Given the description of an element on the screen output the (x, y) to click on. 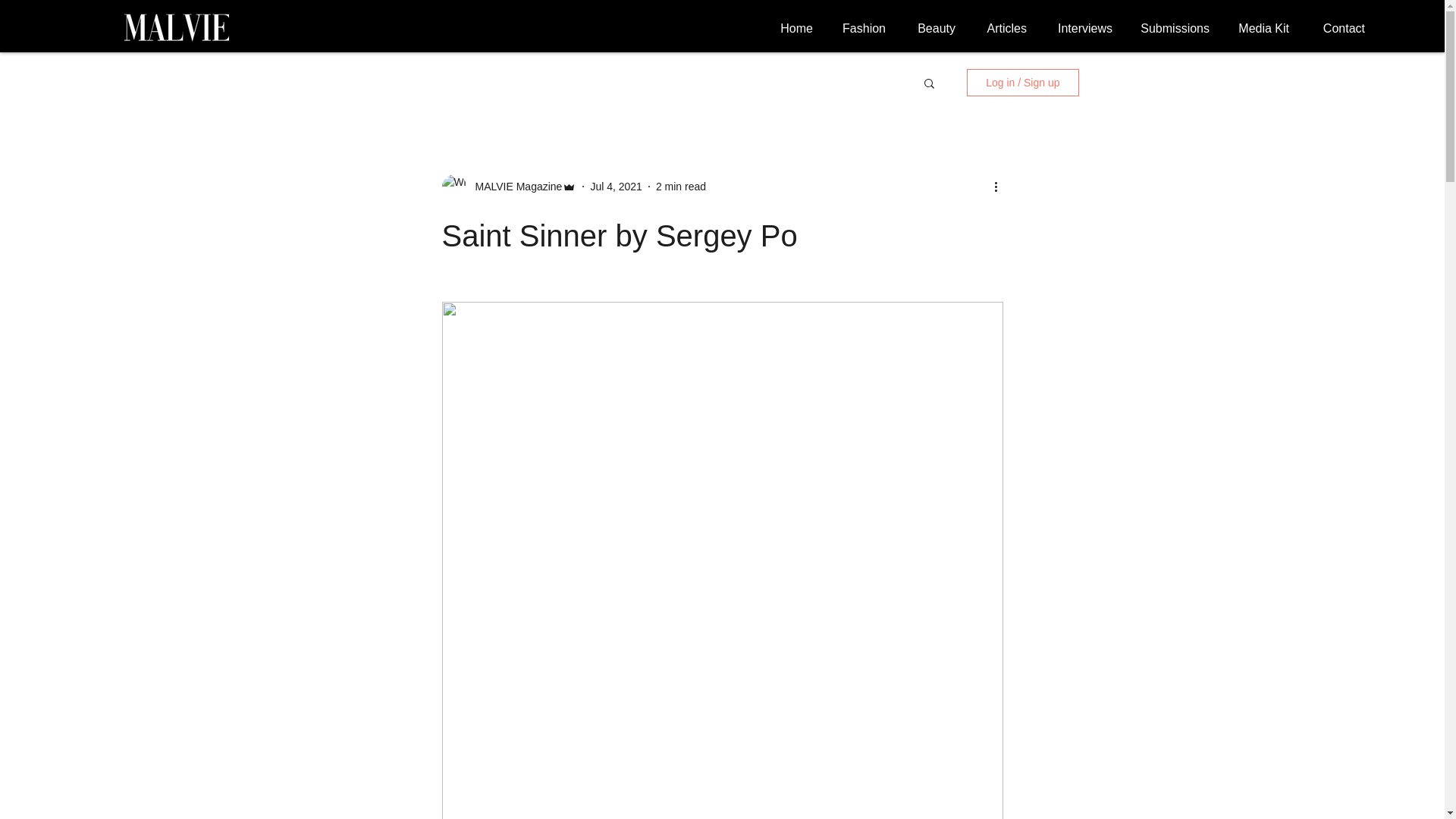
Submissions (1172, 28)
Beauty (931, 28)
Jul 4, 2021 (615, 186)
Fashion (860, 28)
Home (793, 28)
2 min read (681, 186)
MALVIE  Magazine (513, 186)
Contact (1337, 28)
Media Kit (1260, 28)
Interviews (1081, 28)
Articles (1002, 28)
MALVIE Magazine (508, 186)
